Given the description of an element on the screen output the (x, y) to click on. 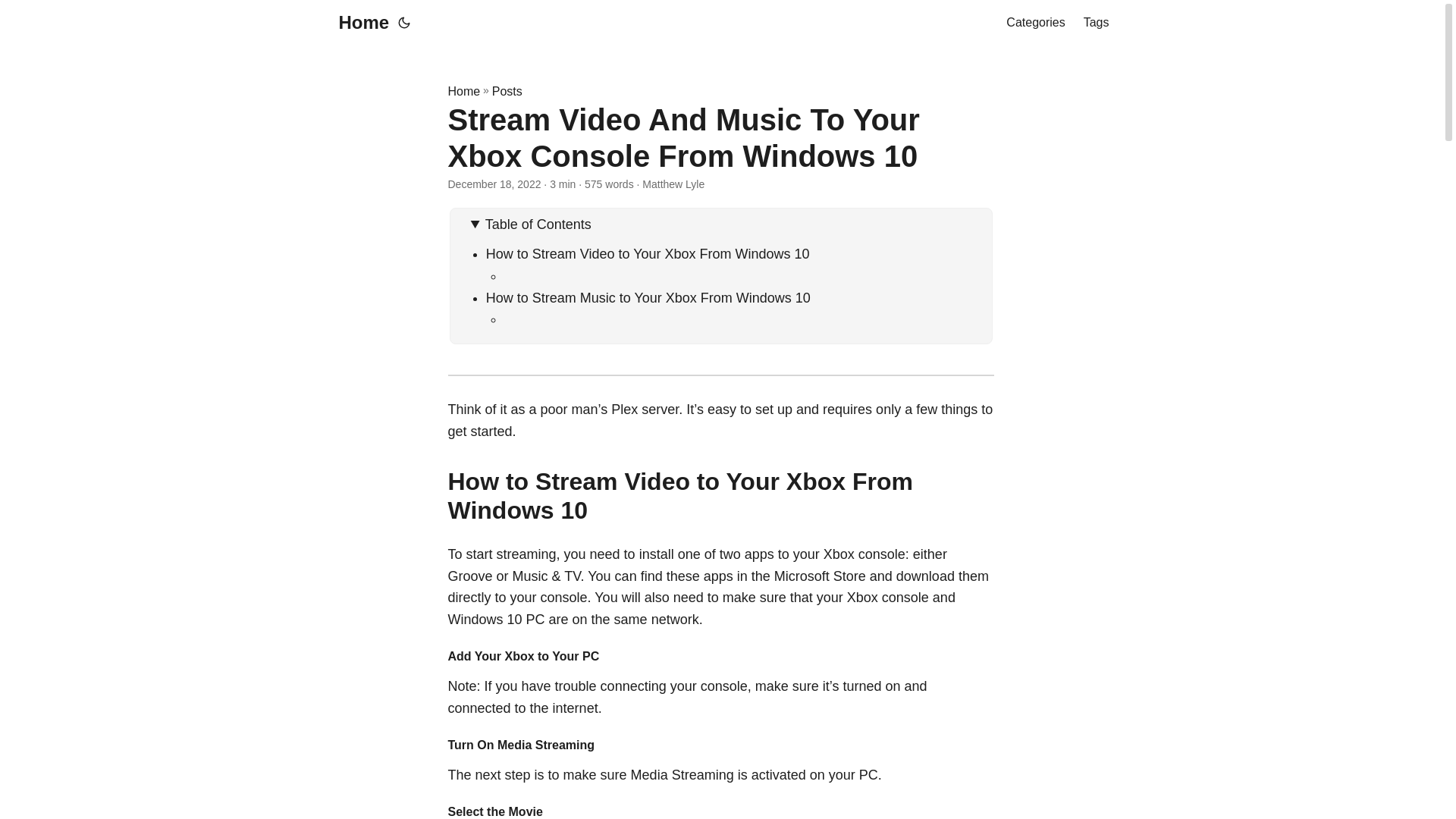
Categories (1035, 22)
Categories (1035, 22)
How to Stream Music to Your Xbox From Windows 10 (648, 297)
Home (463, 91)
How to Stream Video to Your Xbox From Windows 10 (647, 253)
Posts (507, 91)
Home (359, 22)
